Given the description of an element on the screen output the (x, y) to click on. 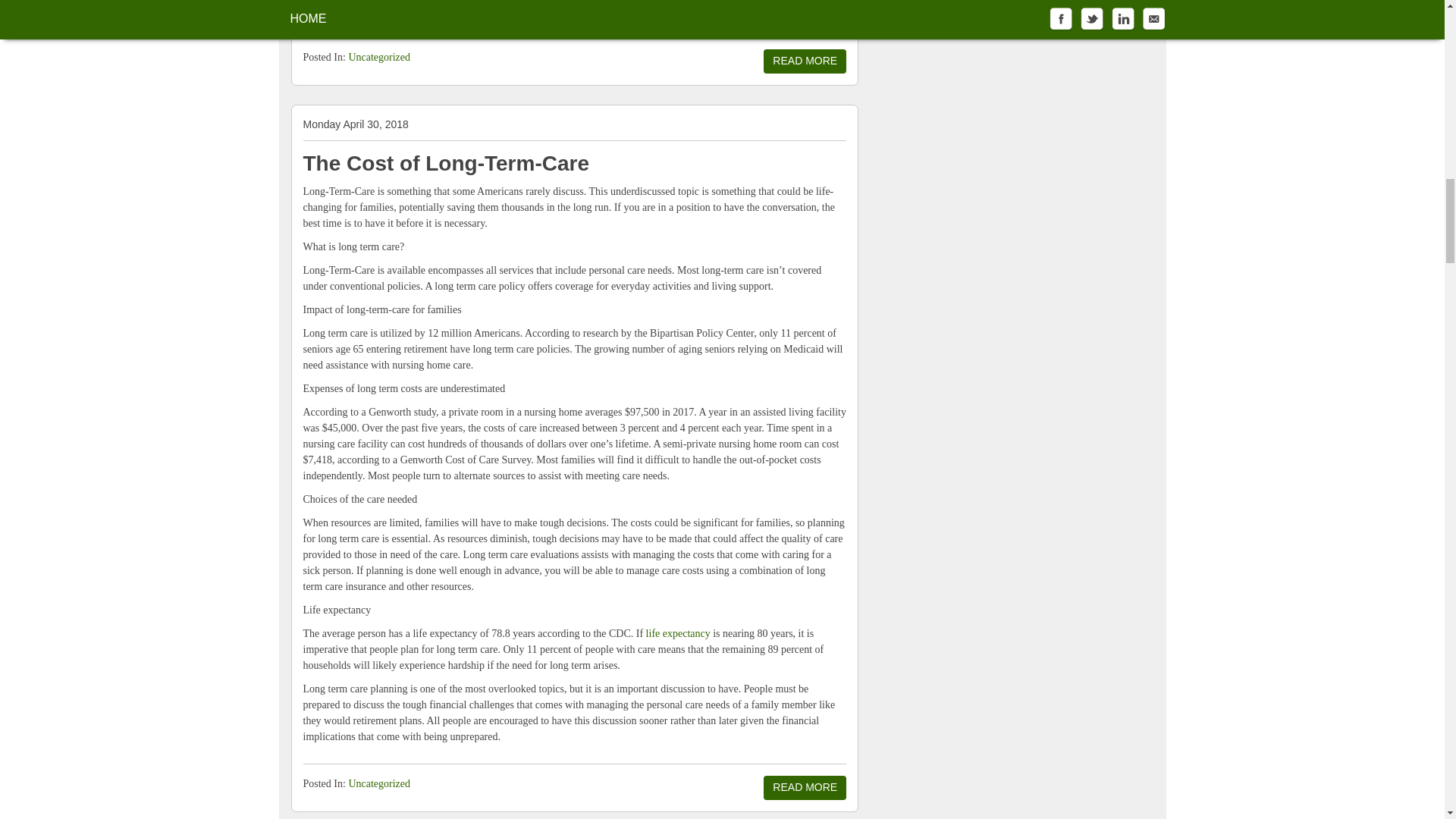
The Cost of Long-Term-Care (445, 163)
READ MORE (803, 787)
Uncategorized (378, 57)
life expectancy (678, 633)
View all posts in Uncategorized (378, 783)
Uncategorized (378, 783)
READ MORE (803, 61)
View all posts in Uncategorized (378, 57)
